Given the description of an element on the screen output the (x, y) to click on. 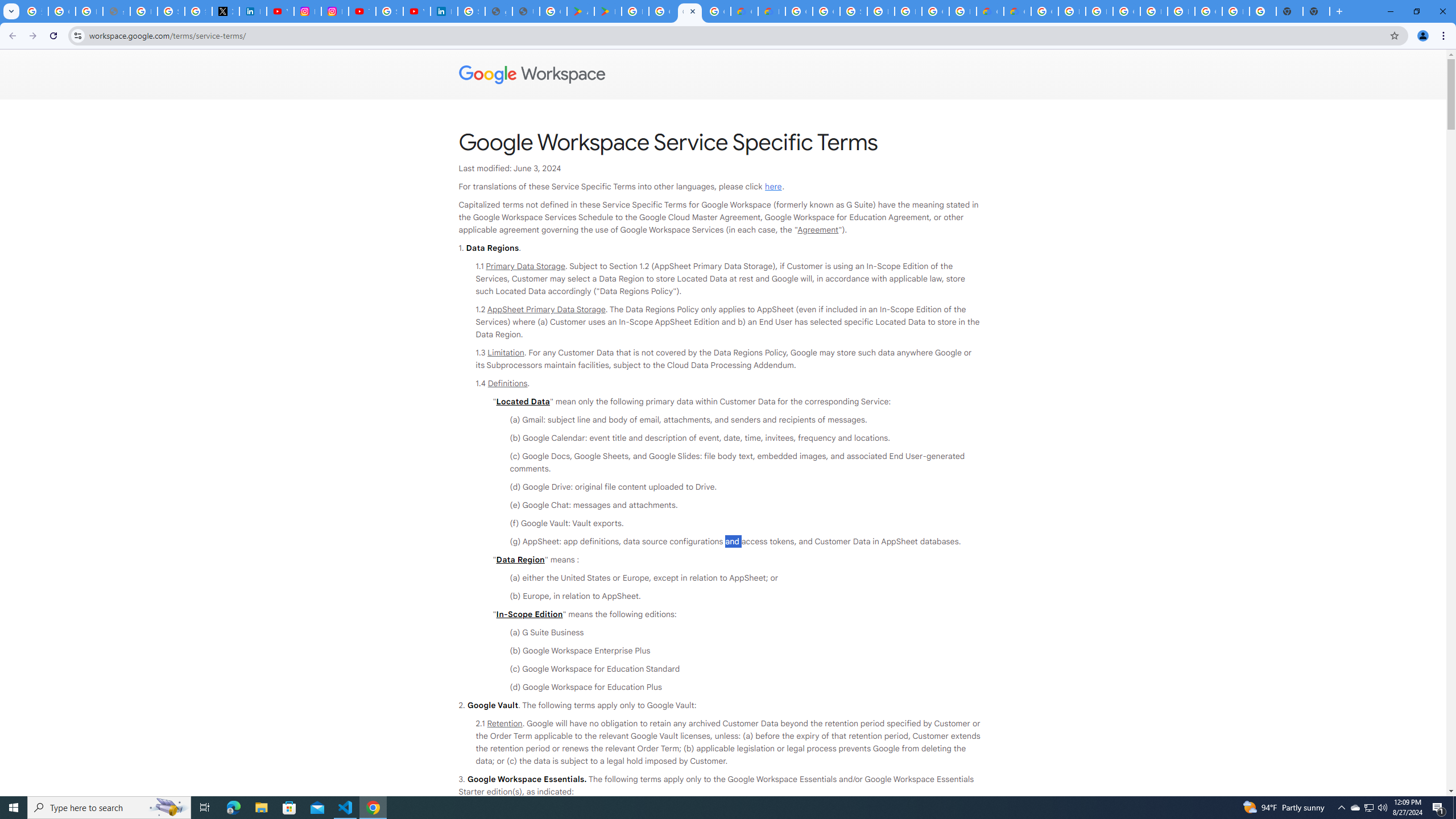
X (225, 11)
here (772, 186)
